Given the description of an element on the screen output the (x, y) to click on. 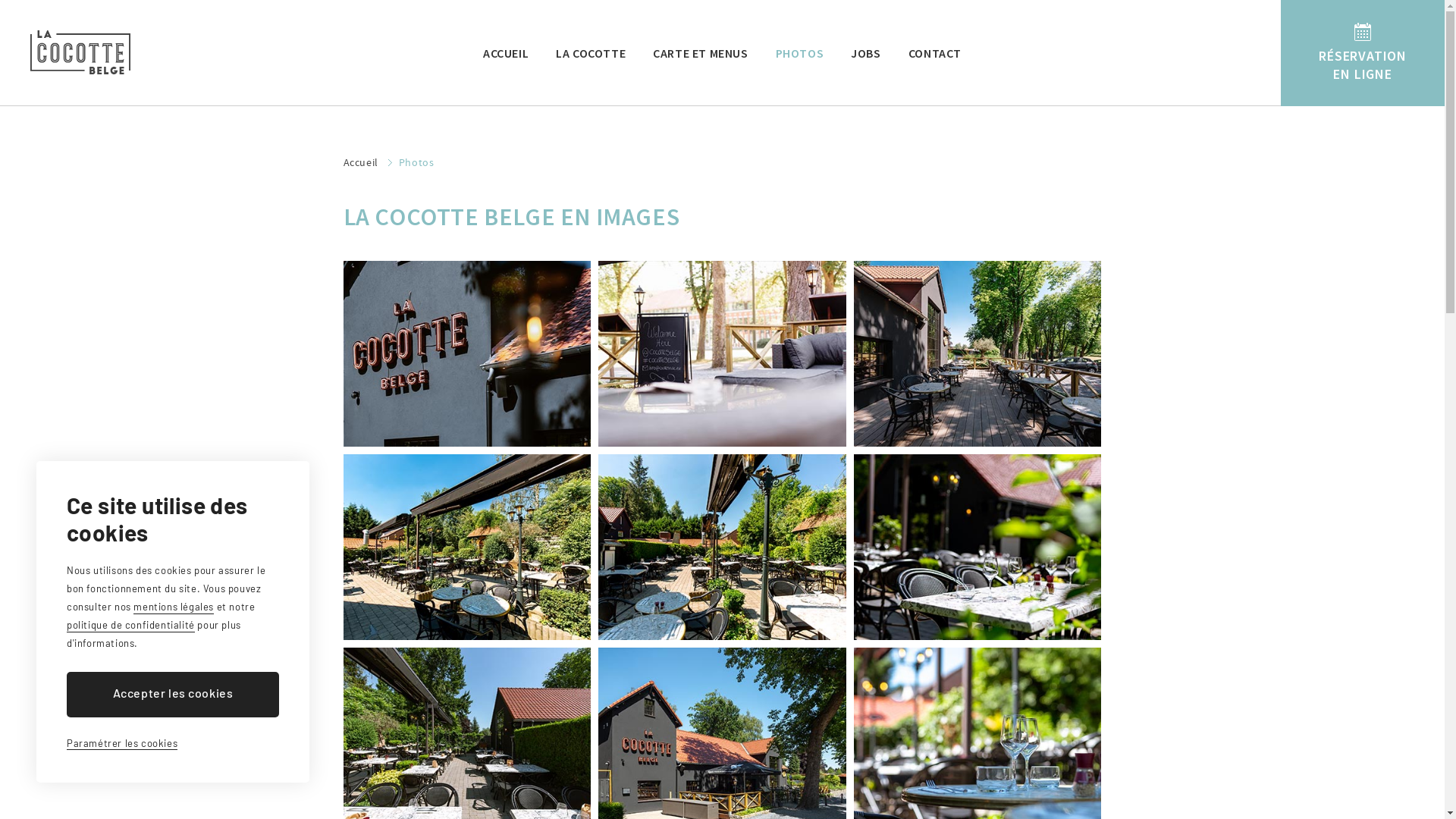
La Cocotte Belge Element type: hover (80, 53)
Accueil Element type: text (366, 162)
JOBS Element type: text (865, 53)
CARTE ET MENUS Element type: text (699, 53)
LA COCOTTE Element type: text (590, 53)
CONTACT Element type: text (934, 53)
Photos Element type: text (416, 162)
ACCUEIL Element type: text (505, 53)
PHOTOS Element type: text (799, 53)
